Given the description of an element on the screen output the (x, y) to click on. 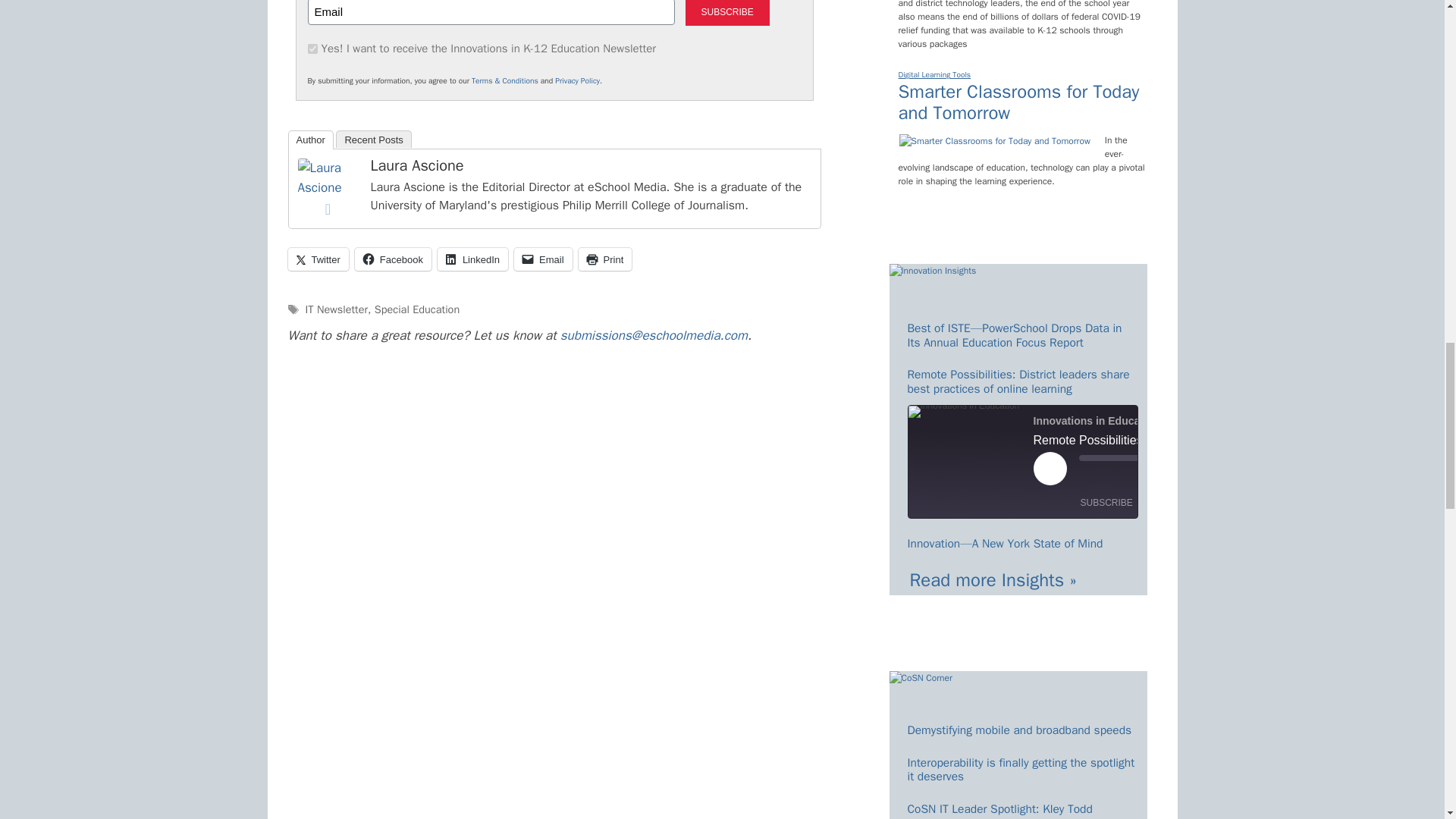
SUBSCRIBE (727, 12)
100 (312, 49)
